Given the description of an element on the screen output the (x, y) to click on. 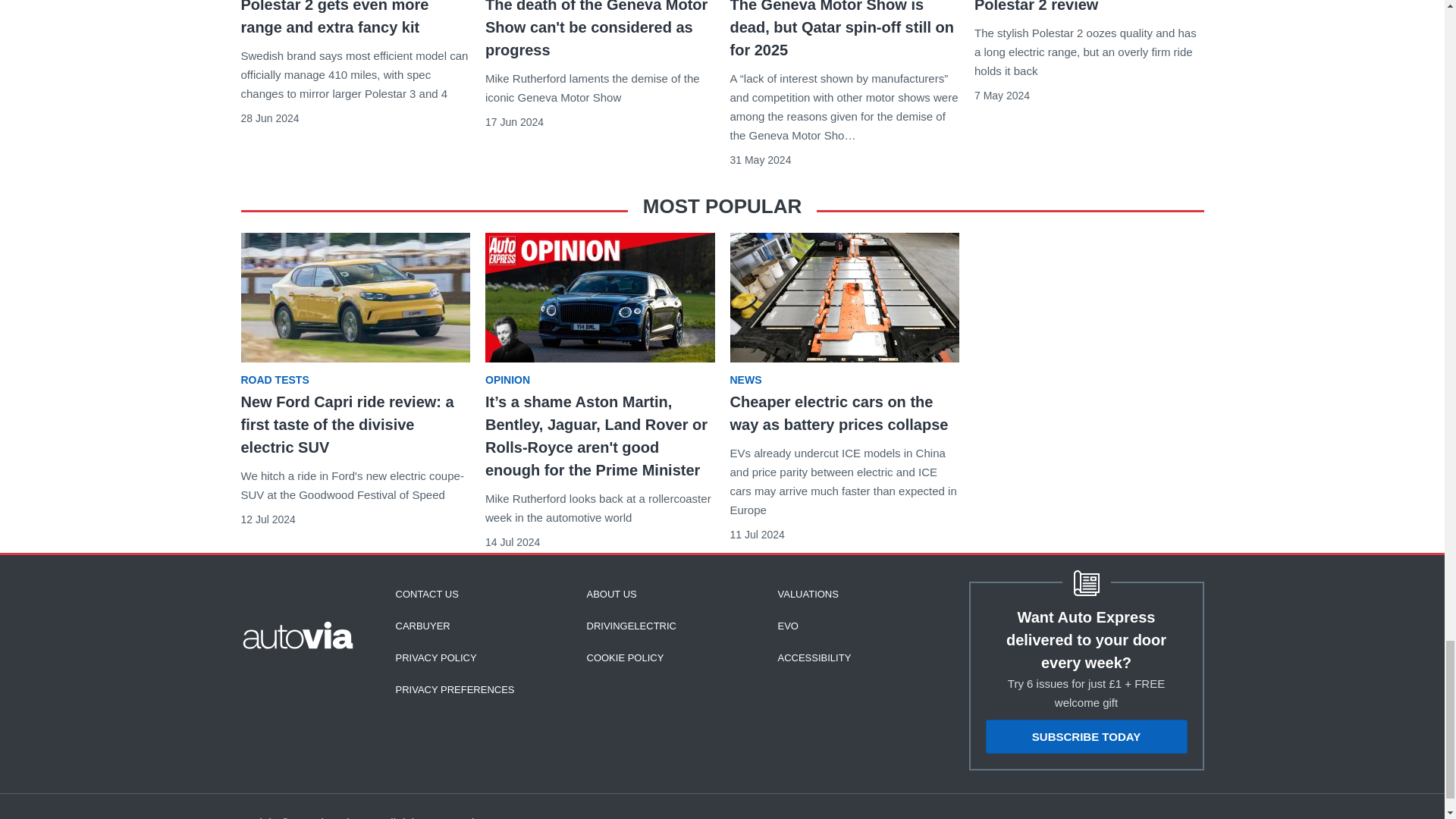
SUBSCRIBE TODAY (1086, 736)
